Given the description of an element on the screen output the (x, y) to click on. 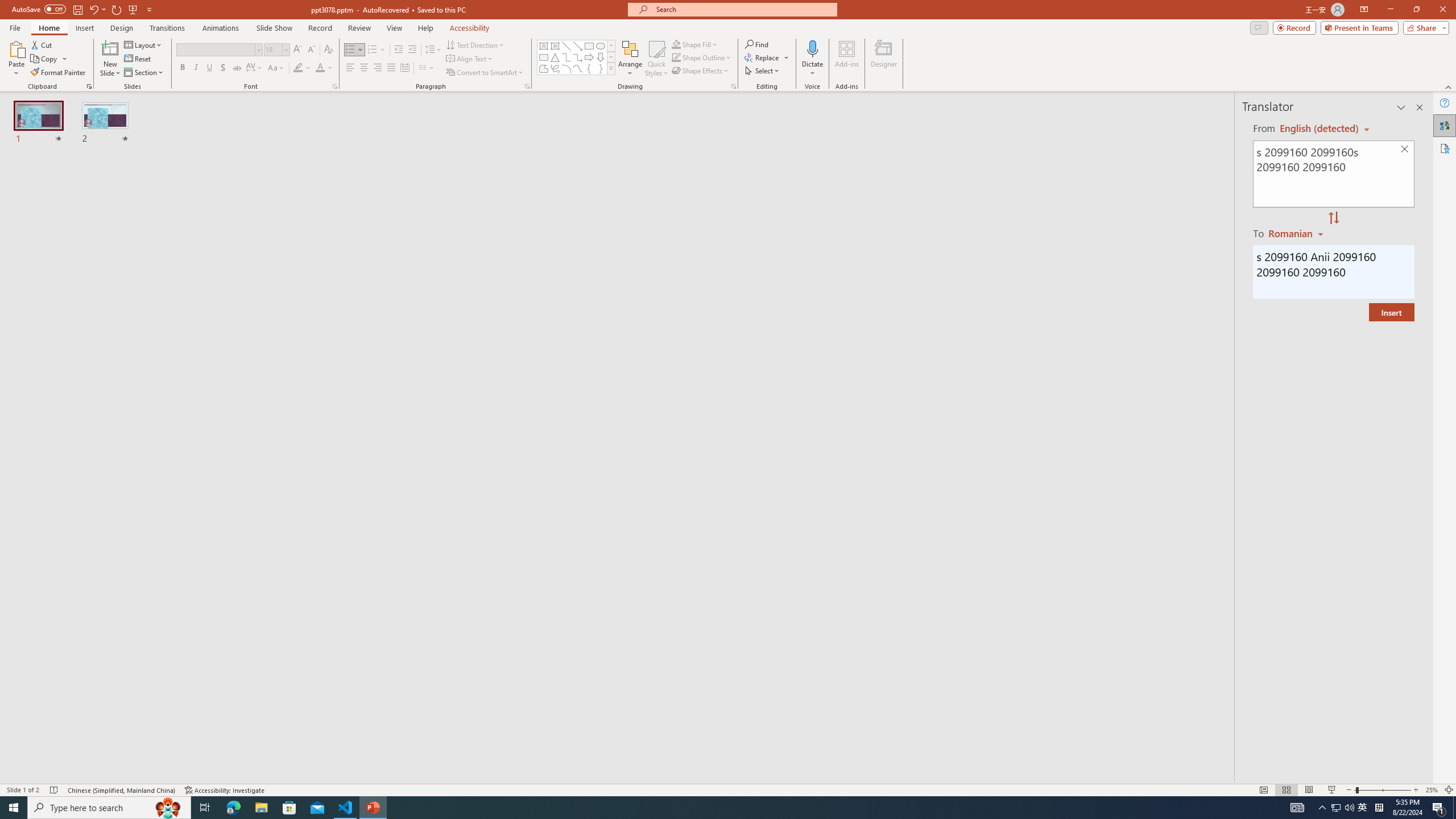
Zoom 25% (1431, 790)
